Given the description of an element on the screen output the (x, y) to click on. 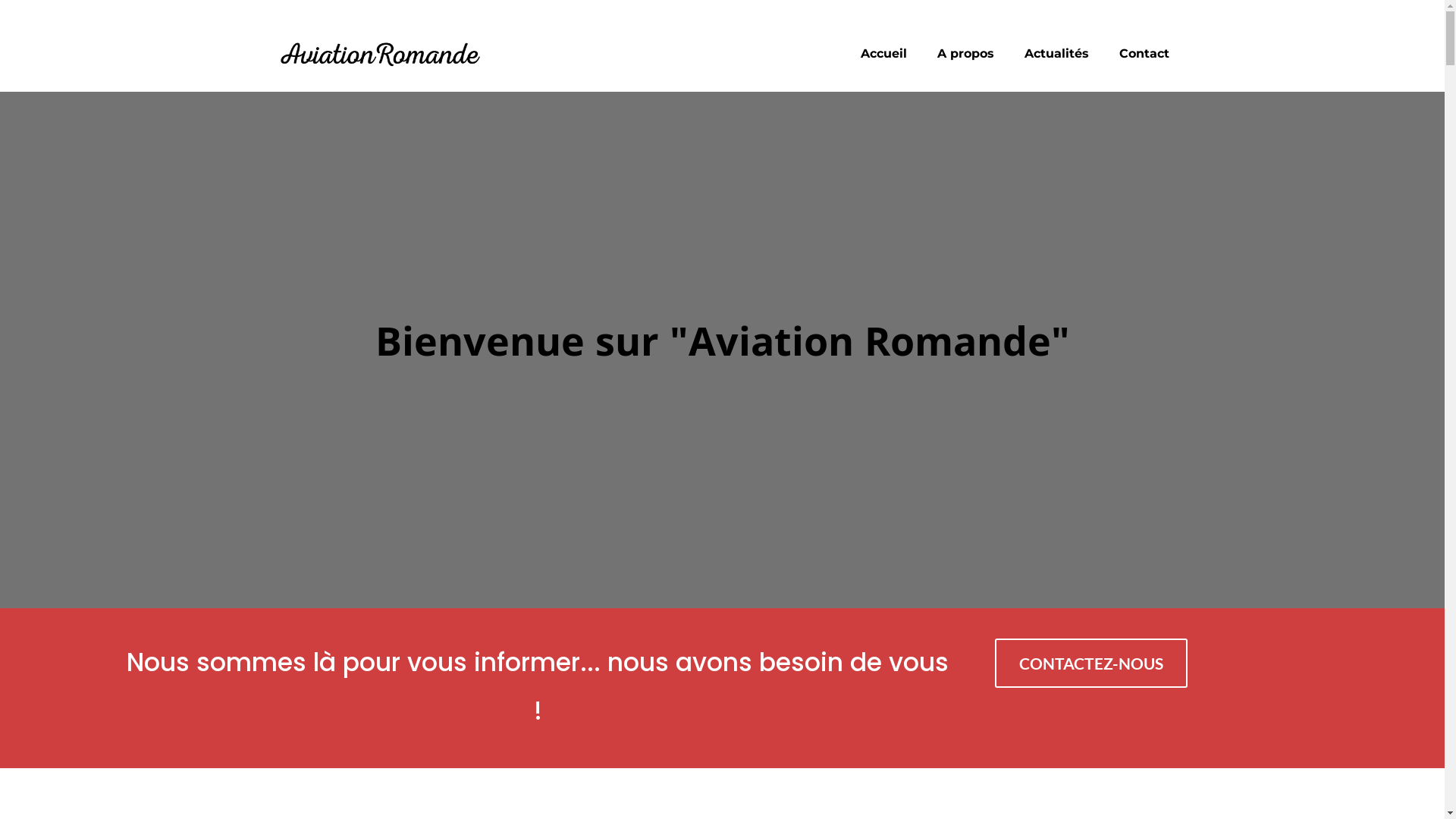
Accueil Element type: text (883, 53)
Contact Element type: text (1144, 53)
A propos Element type: text (965, 53)
CONTACTEZ-NOUS Element type: text (1090, 662)
